Given the description of an element on the screen output the (x, y) to click on. 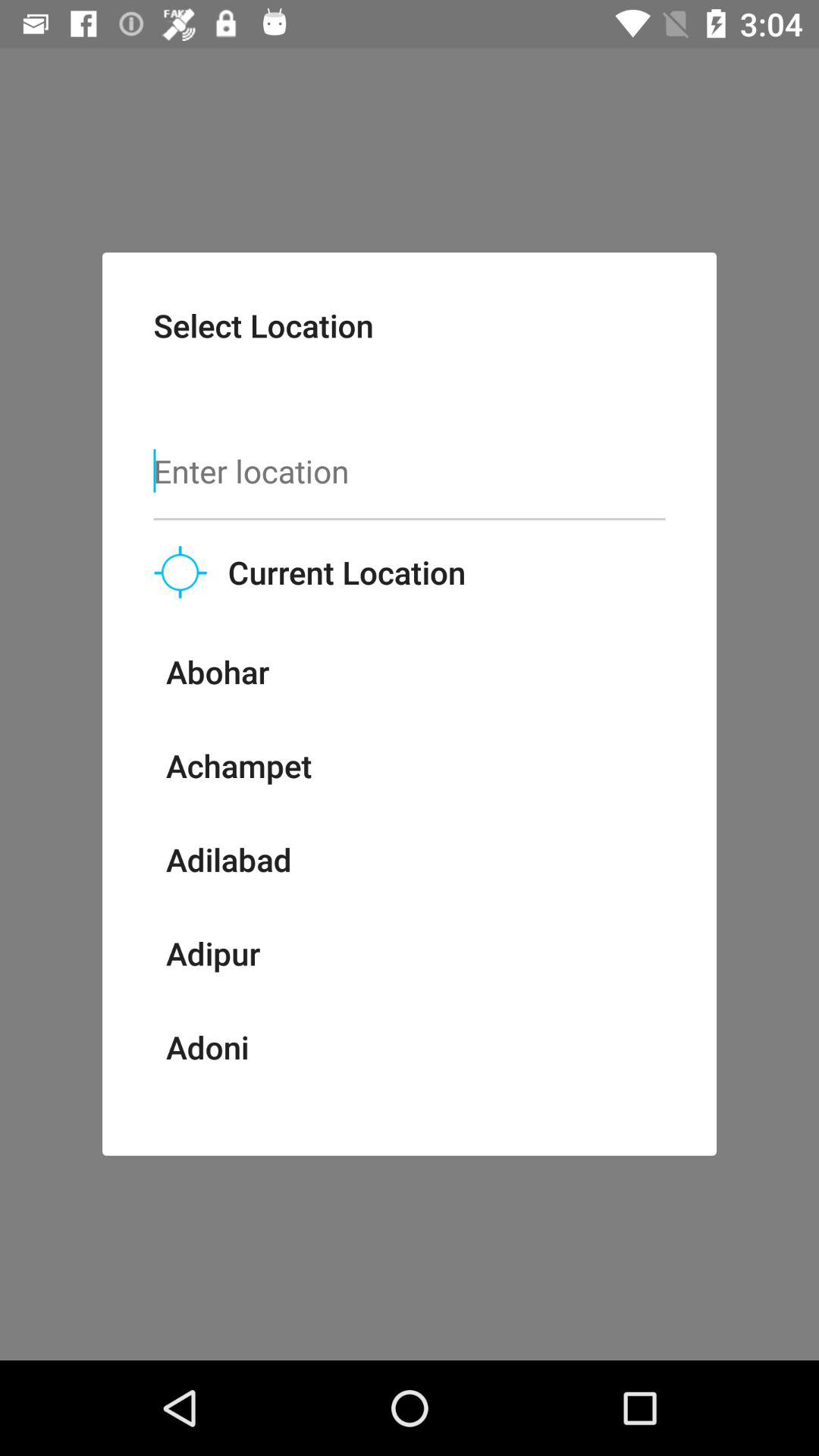
open the agra icon (199, 1111)
